Given the description of an element on the screen output the (x, y) to click on. 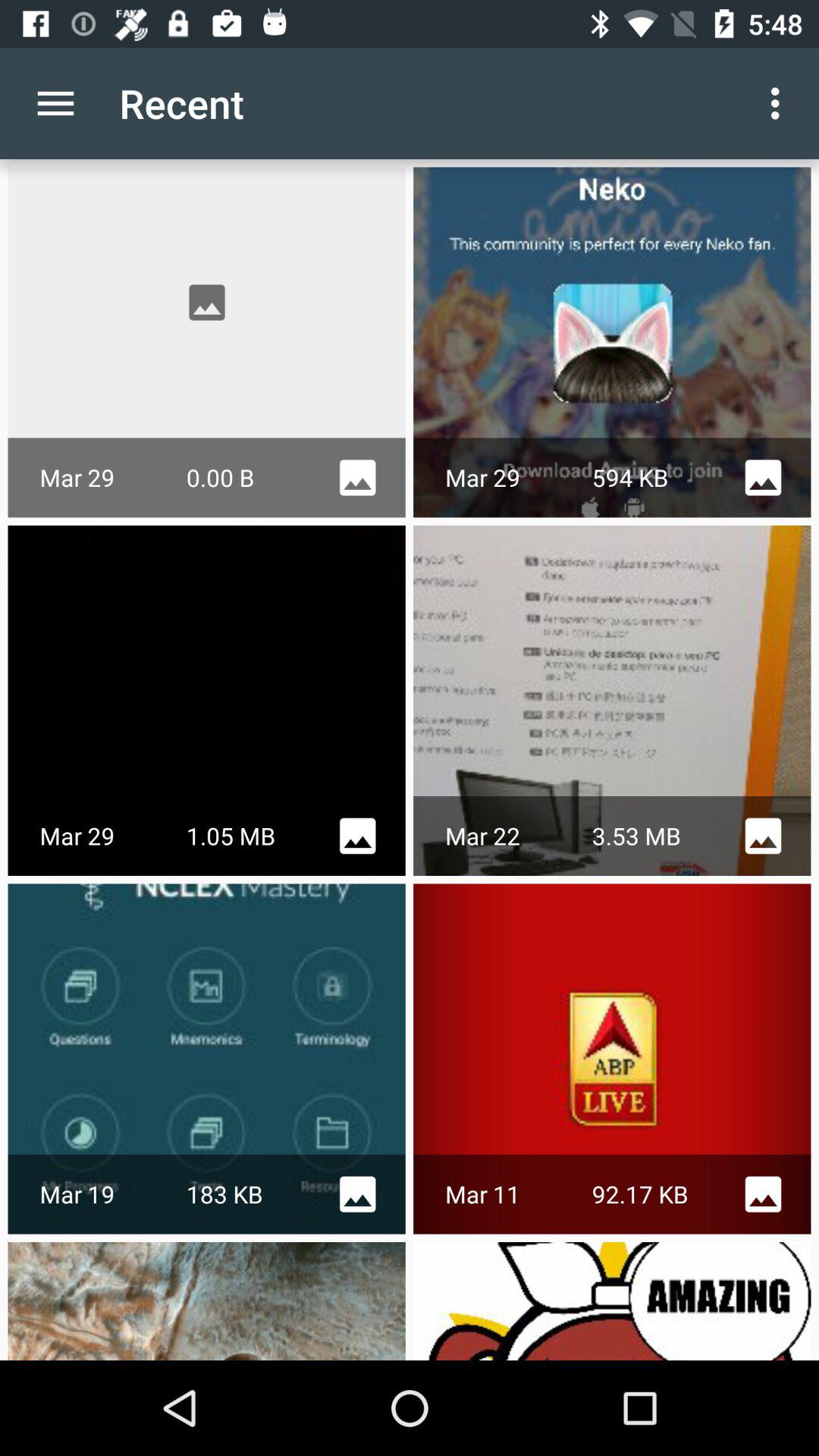
click the app next to recent app (55, 103)
